Given the description of an element on the screen output the (x, y) to click on. 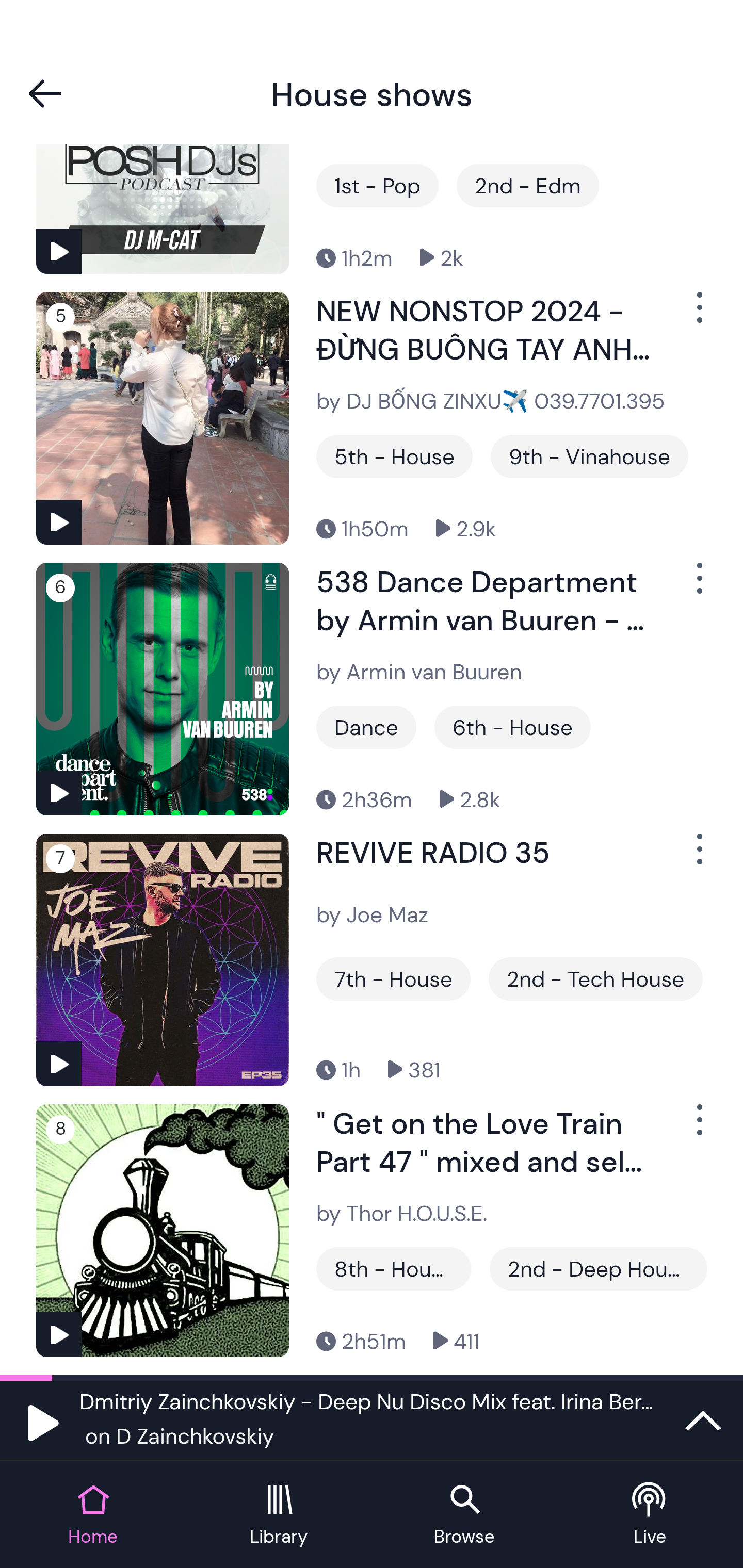
1st - Pop (377, 185)
2nd - Edm (527, 185)
Show Options Menu Button (697, 314)
5th - House (394, 456)
9th - Vinahouse (589, 456)
Show Options Menu Button (697, 585)
Dance (366, 727)
6th - House (512, 727)
Show Options Menu Button (697, 857)
7th - House (393, 979)
2nd - Tech House (595, 979)
Show Options Menu Button (697, 1126)
8th - House (393, 1268)
2nd - Deep House (597, 1268)
Home tab Home (92, 1515)
Library tab Library (278, 1515)
Browse tab Browse (464, 1515)
Live tab Live (650, 1515)
